Given the description of an element on the screen output the (x, y) to click on. 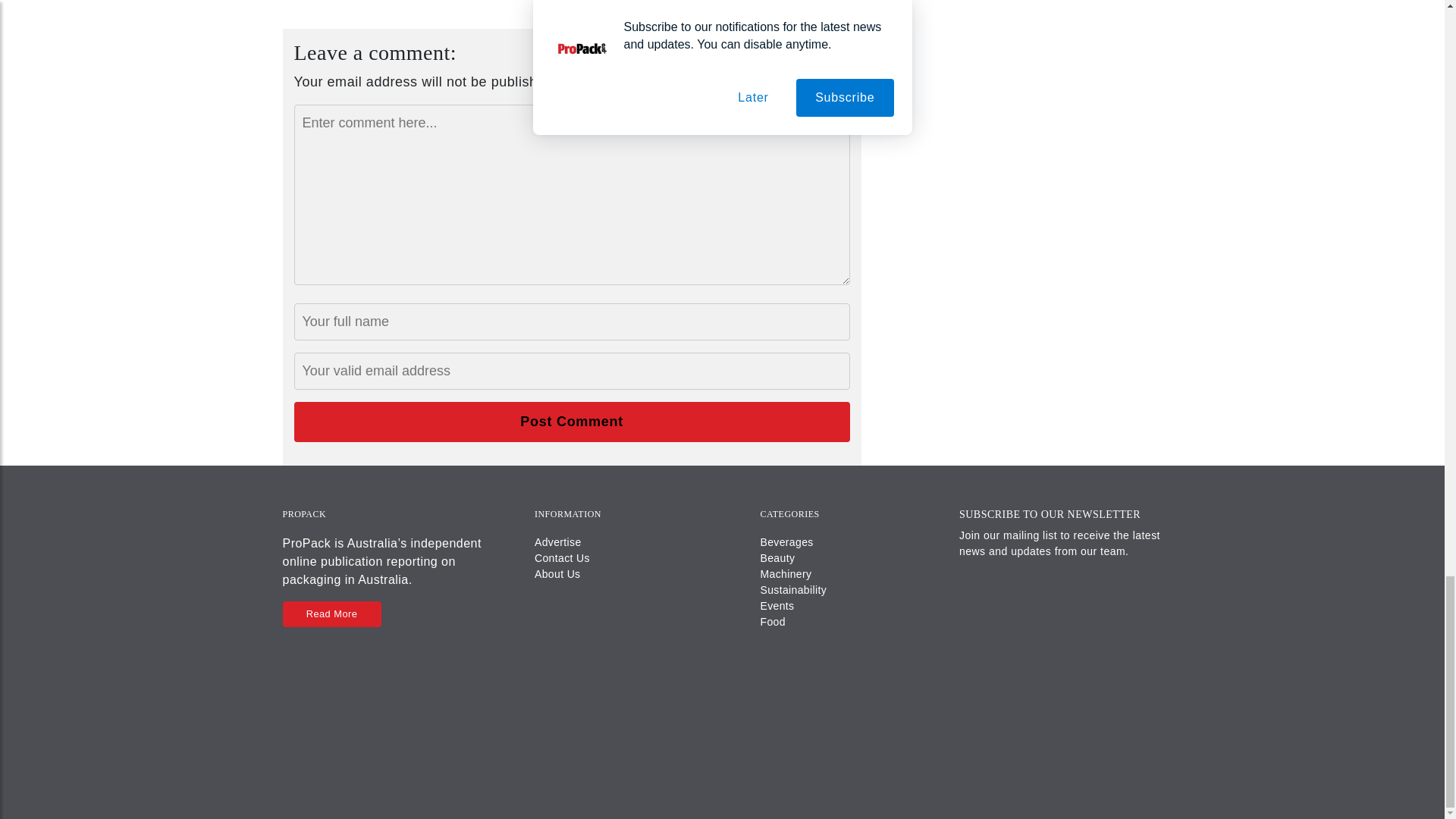
Post Comment (572, 422)
Amcor (554, 2)
ExxonMobil (607, 2)
Read More (331, 613)
Post Comment (572, 422)
Advertise (557, 541)
